Given the description of an element on the screen output the (x, y) to click on. 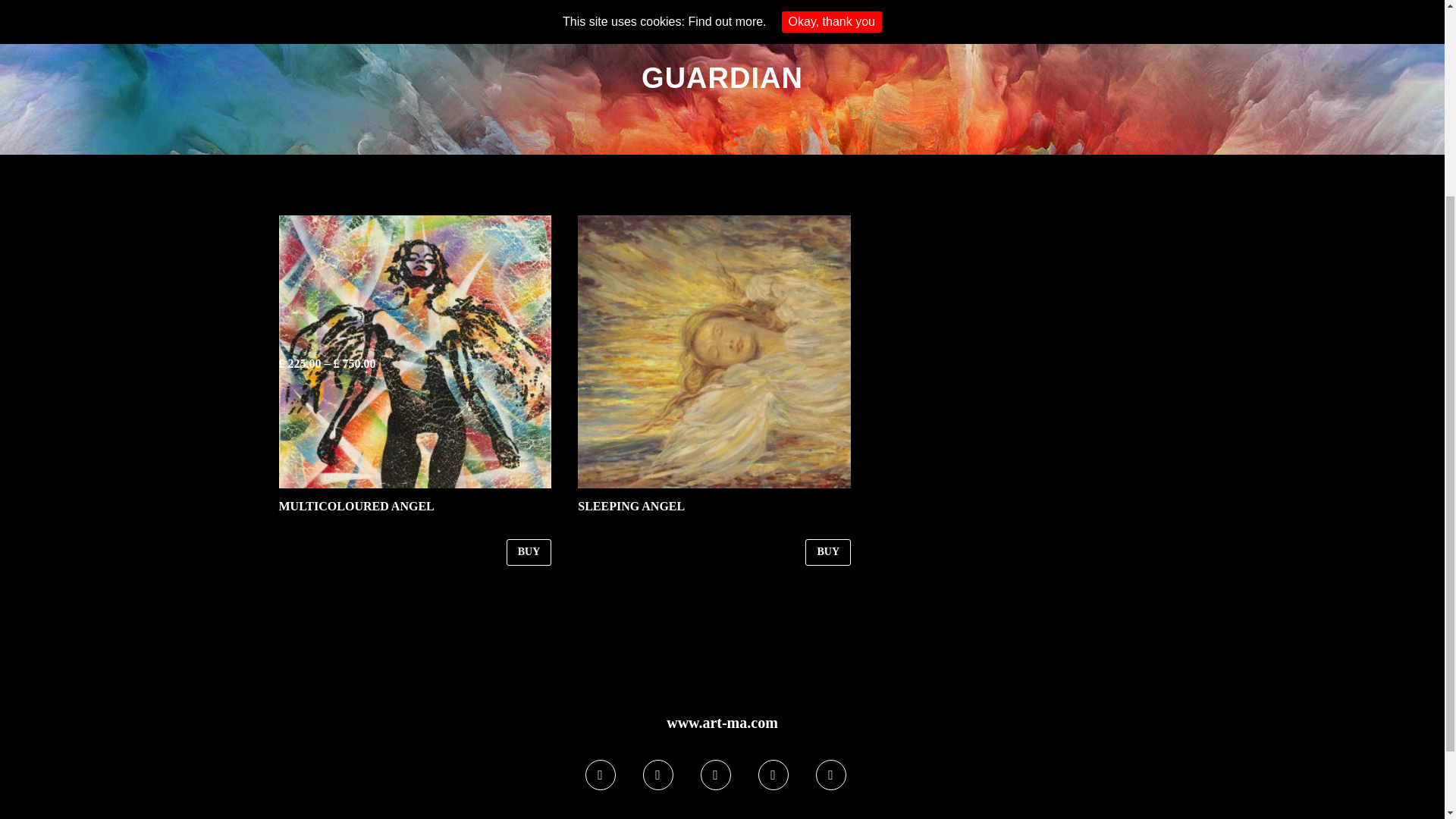
Twitter (657, 775)
Facebook (600, 775)
Instagram (715, 775)
BUY (528, 551)
YouTube (830, 775)
Pinterest (773, 775)
